Given the description of an element on the screen output the (x, y) to click on. 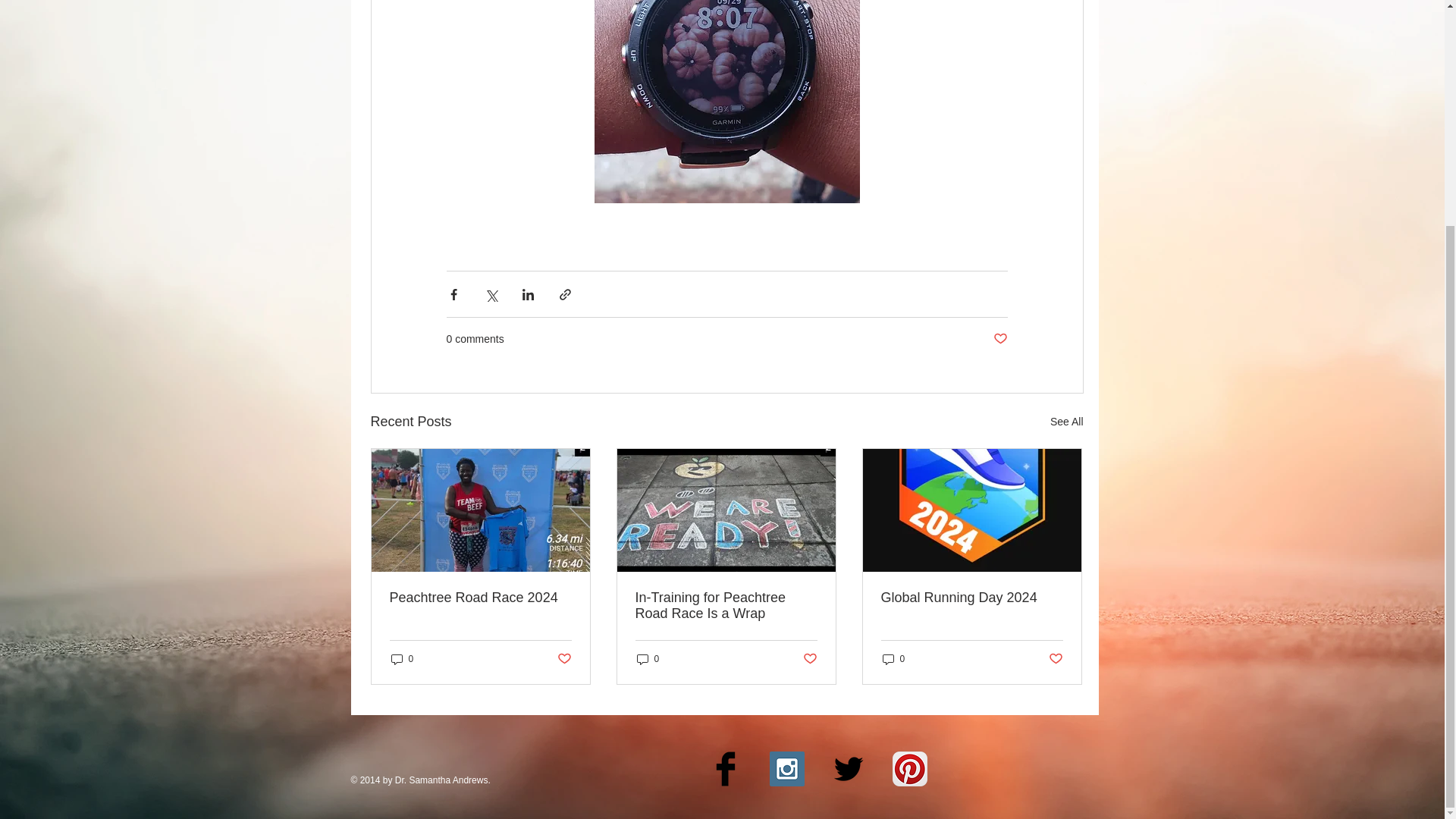
Twitter Follow (1148, 151)
0 (893, 658)
Post not marked as liked (1055, 658)
Post not marked as liked (999, 339)
Post not marked as liked (809, 658)
See All (1066, 422)
Post not marked as liked (563, 658)
Peachtree Road Race 2024 (481, 597)
0 (402, 658)
0 (647, 658)
In-Training for Peachtree Road Race Is a Wrap (725, 605)
Global Running Day 2024 (971, 597)
